Given the description of an element on the screen output the (x, y) to click on. 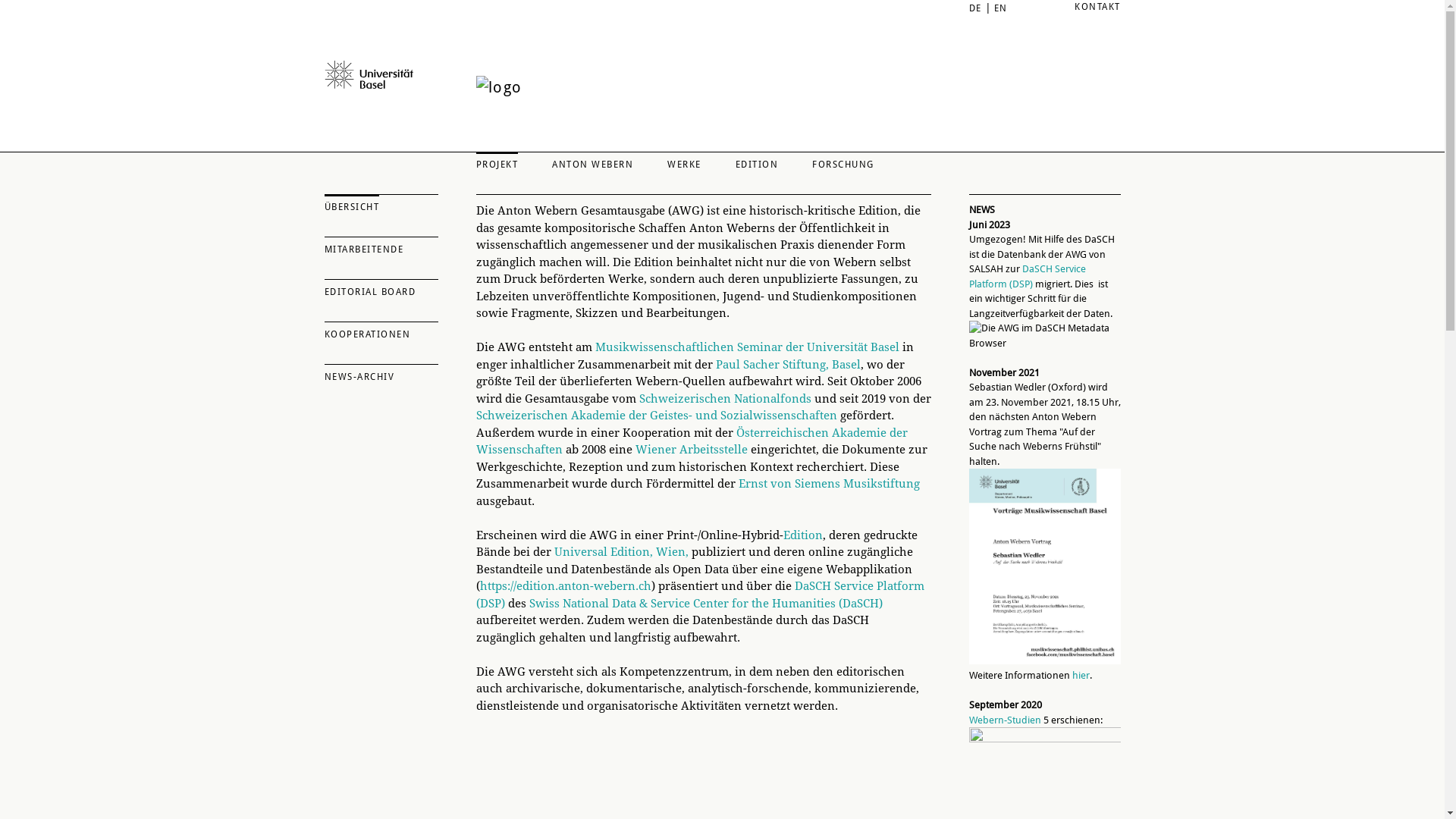
Universal Edition, Wien, Element type: text (620, 551)
Paul Sacher Stiftung, Basel Element type: text (787, 364)
KOOPERATIONEN Element type: text (381, 331)
EDITORIAL BOARD Element type: text (381, 288)
EN Element type: text (1000, 8)
Edition Element type: text (802, 534)
EDITION Element type: text (756, 161)
KONTAKT Element type: text (1097, 6)
DaSCH Service Platform (DSP) Element type: text (700, 594)
hier Element type: text (1080, 674)
Webern-Studien Element type: text (1005, 719)
PROJEKT Element type: text (497, 161)
Wiener Arbeitsstelle Element type: text (691, 449)
DE Element type: text (975, 8)
NEWS-ARCHIV Element type: text (381, 373)
https://edition.anton-webern.ch Element type: text (564, 586)
MITARBEITENDE Element type: text (381, 246)
Schweizerischen Nationalfonds Element type: text (724, 397)
Ernst von Siemens Musikstiftung Element type: text (828, 483)
FORSCHUNG Element type: text (843, 161)
ANTON WEBERN Element type: text (592, 161)
WERKE Element type: text (684, 161)
DaSCH Service Platform (DSP) Element type: text (1027, 276)
